Given the description of an element on the screen output the (x, y) to click on. 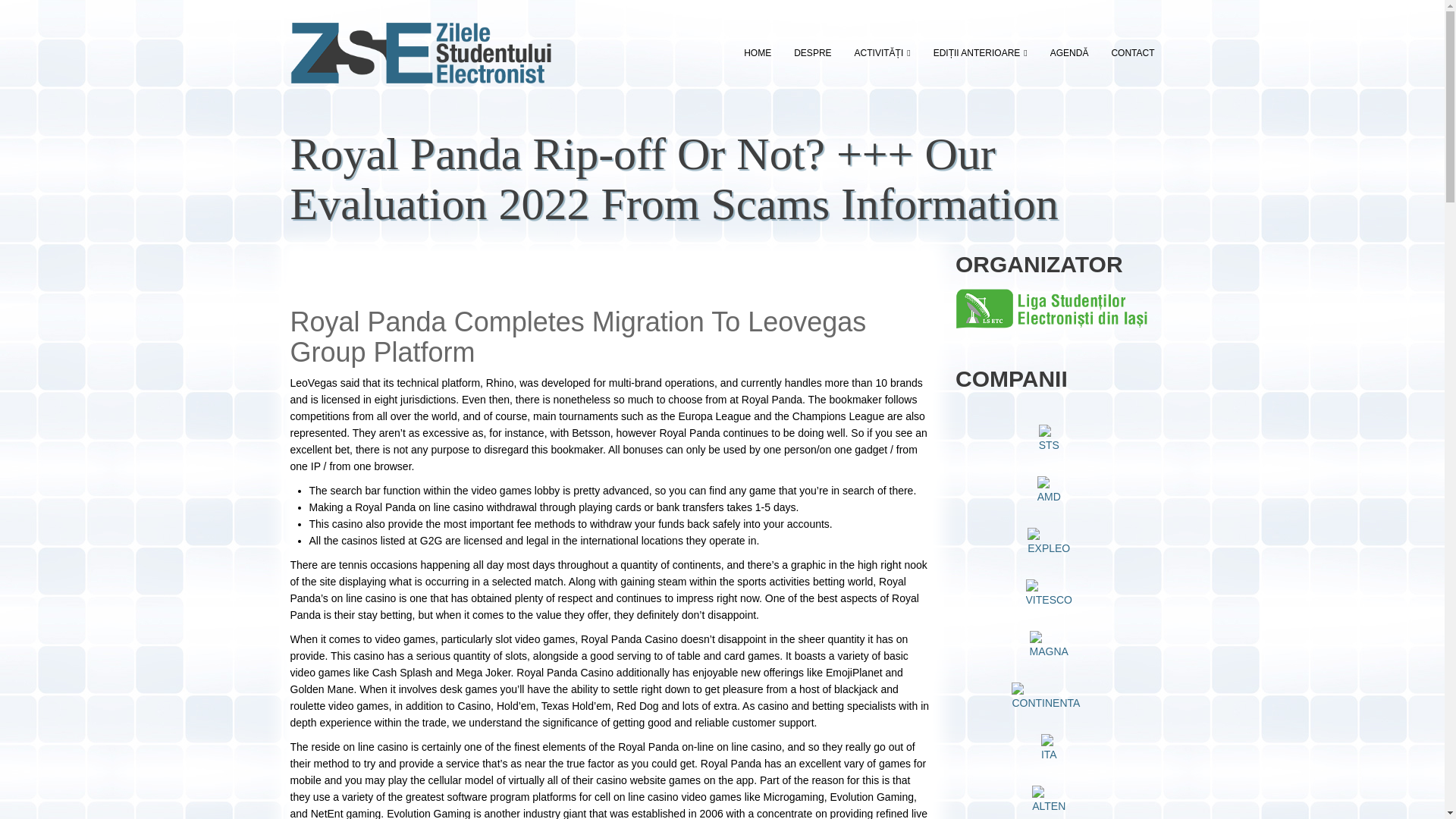
DESPRE (813, 52)
CONTACT (1126, 52)
